Given the description of an element on the screen output the (x, y) to click on. 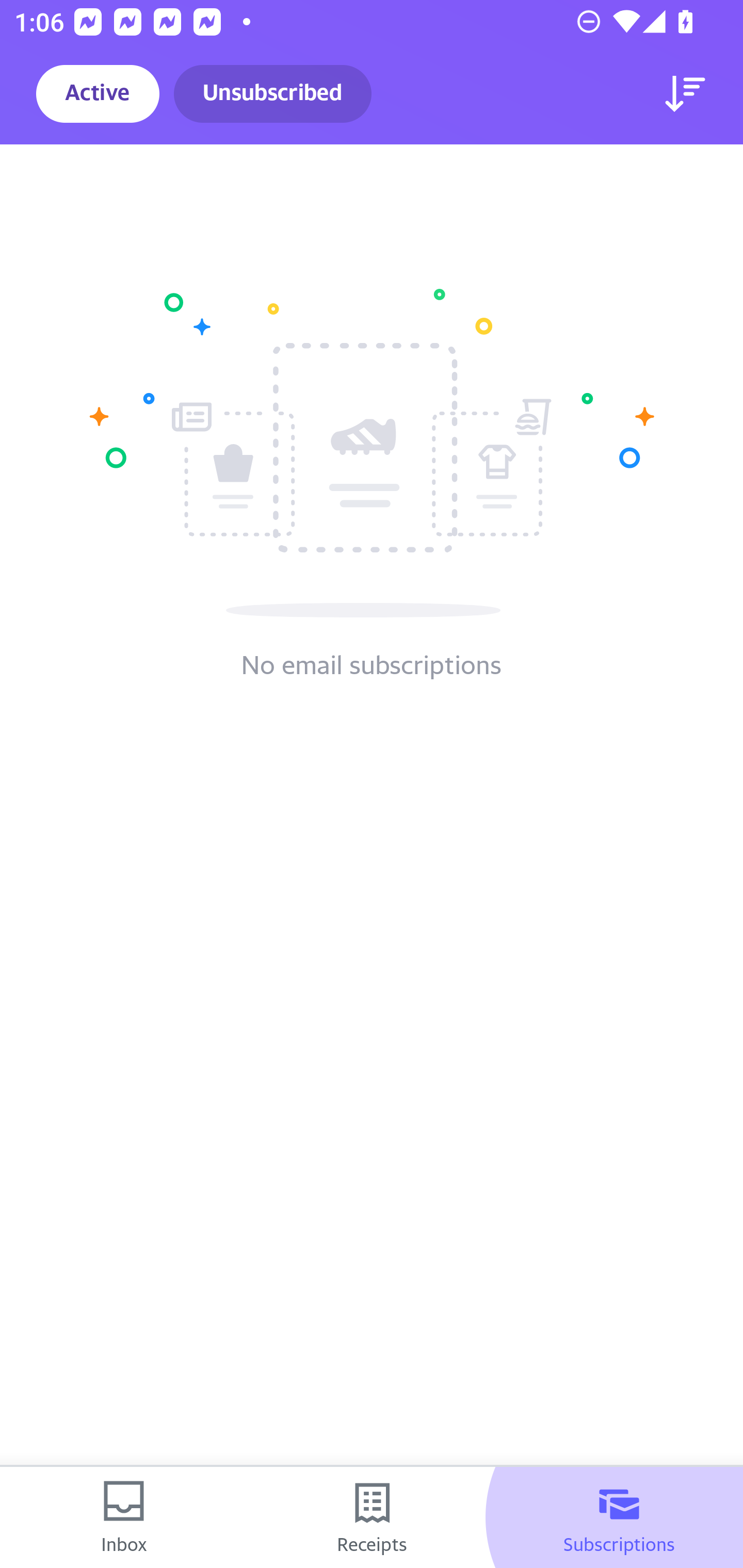
Unsubscribed (272, 93)
Sort (684, 93)
Inbox (123, 1517)
Receipts (371, 1517)
Subscriptions (619, 1517)
